Given the description of an element on the screen output the (x, y) to click on. 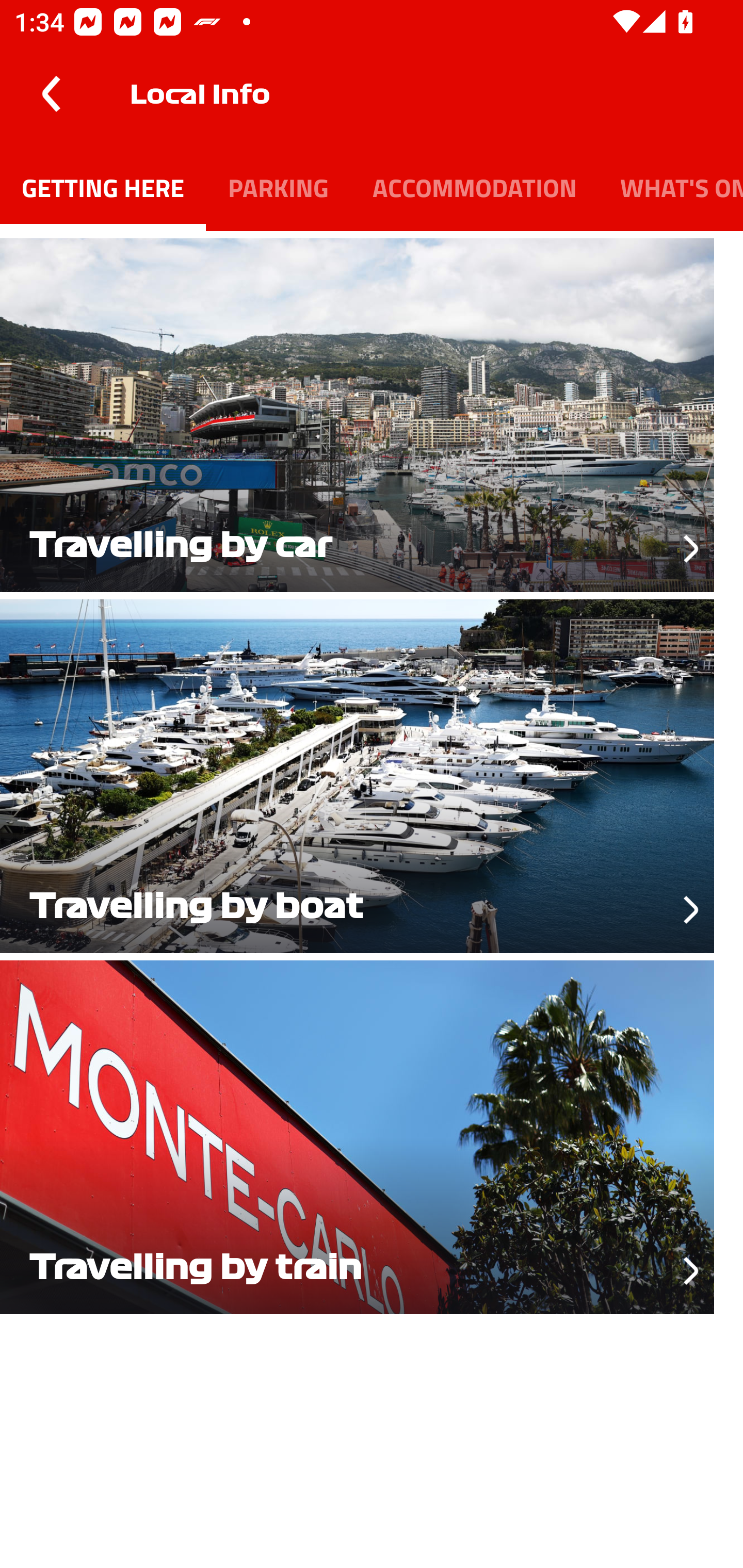
Navigate up (50, 93)
Parking PARKING (277, 187)
Accommodation ACCOMMODATION (474, 187)
What's On WHAT'S ON (670, 187)
Travelling by car (371, 411)
Travelling by boat (371, 772)
Travelling by train (371, 1133)
